Given the description of an element on the screen output the (x, y) to click on. 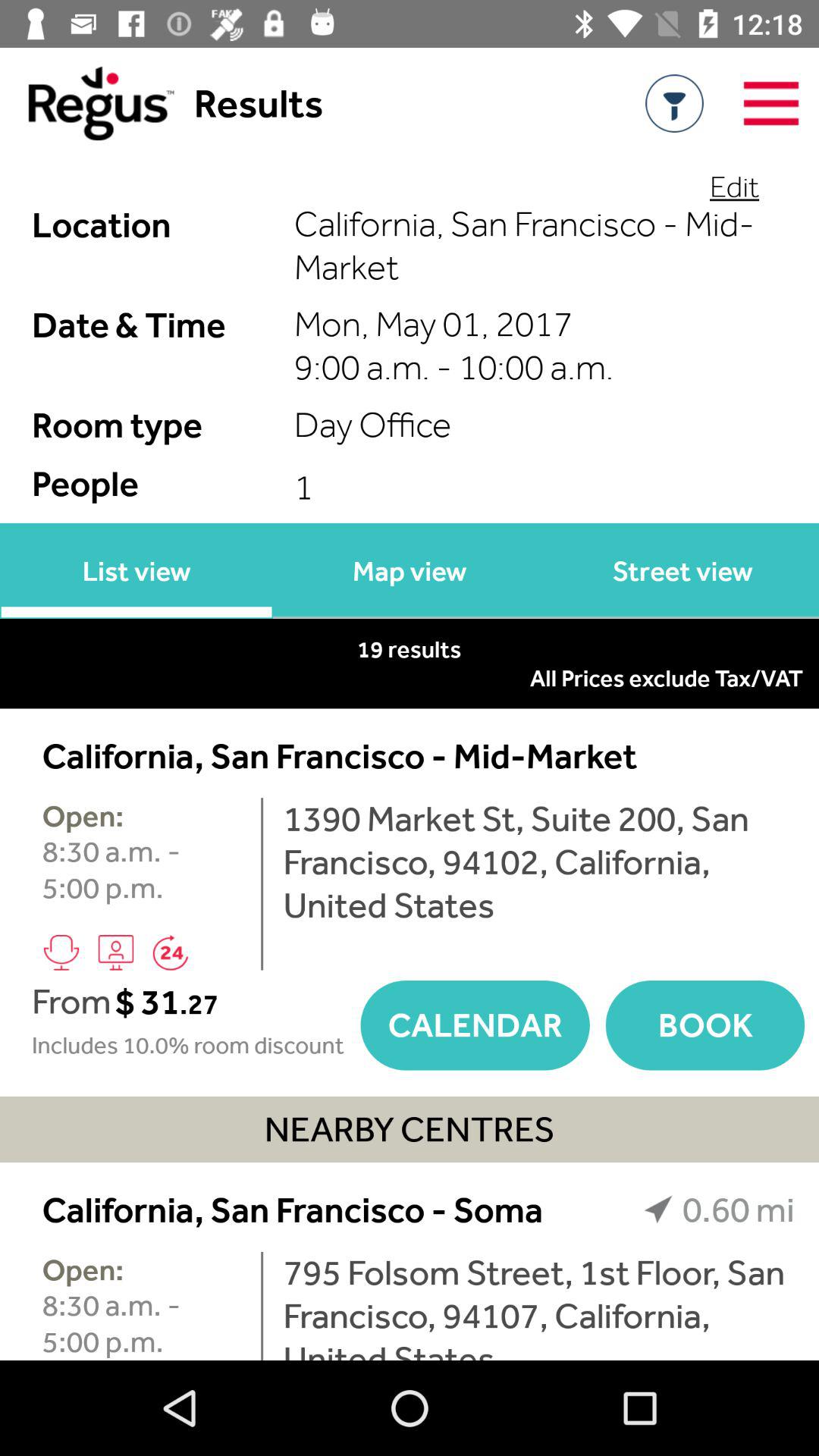
select item to the left of 1390 market st (262, 883)
